Given the description of an element on the screen output the (x, y) to click on. 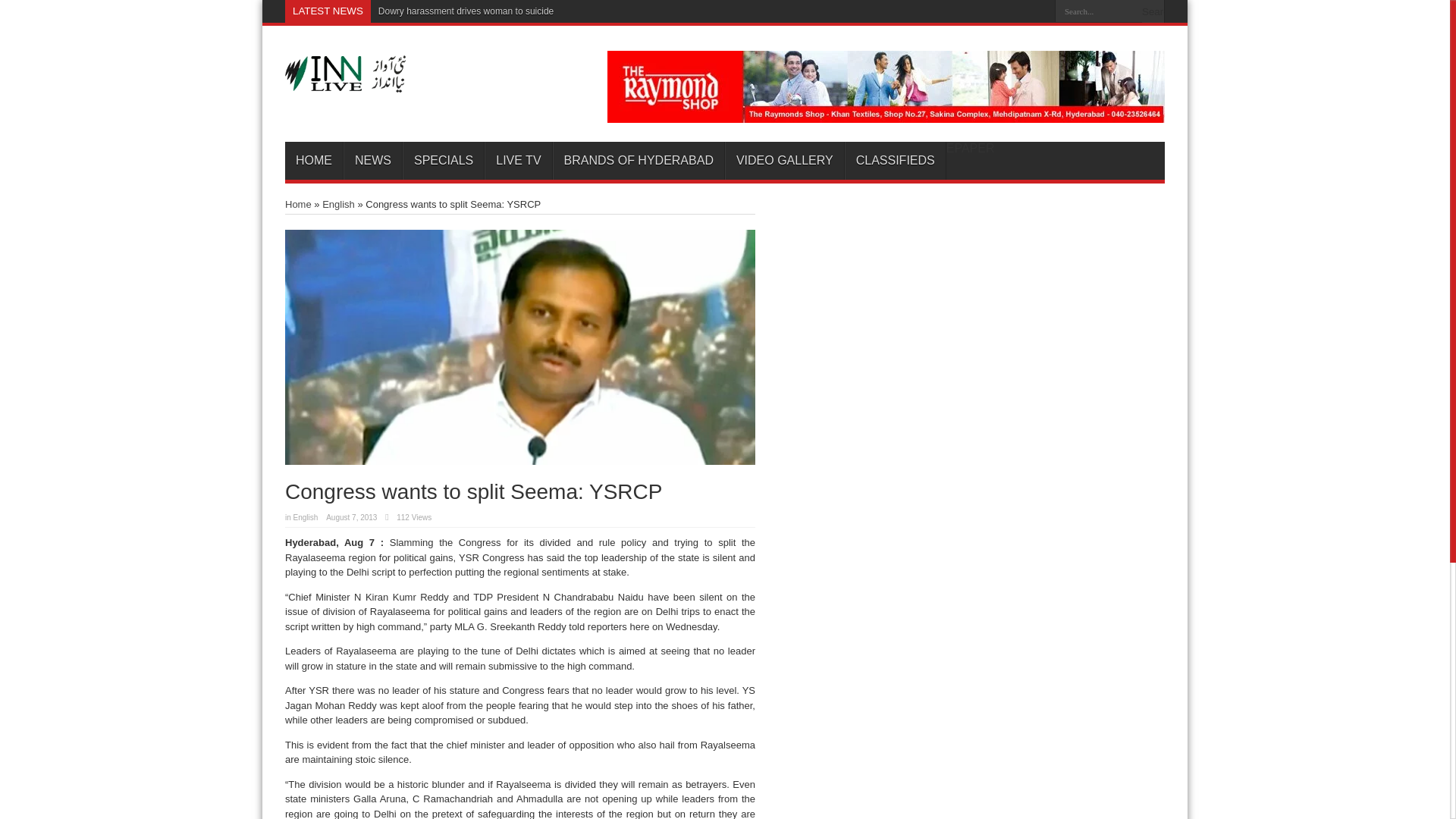
Search (1152, 11)
View all posts in English (306, 517)
SPECIALS (443, 160)
Dowry harassment drives woman to suicide (465, 11)
Dowry harassment drives woman to suicide (465, 11)
CLASSIFIEDS (894, 160)
Search (1152, 11)
English (338, 204)
LIVE TV (517, 160)
Congress wants to split Seema: YSRCP (520, 347)
HOME (313, 160)
Search (1152, 11)
Home (298, 204)
Search... (1097, 11)
VIDEO GALLERY (784, 160)
